Given the description of an element on the screen output the (x, y) to click on. 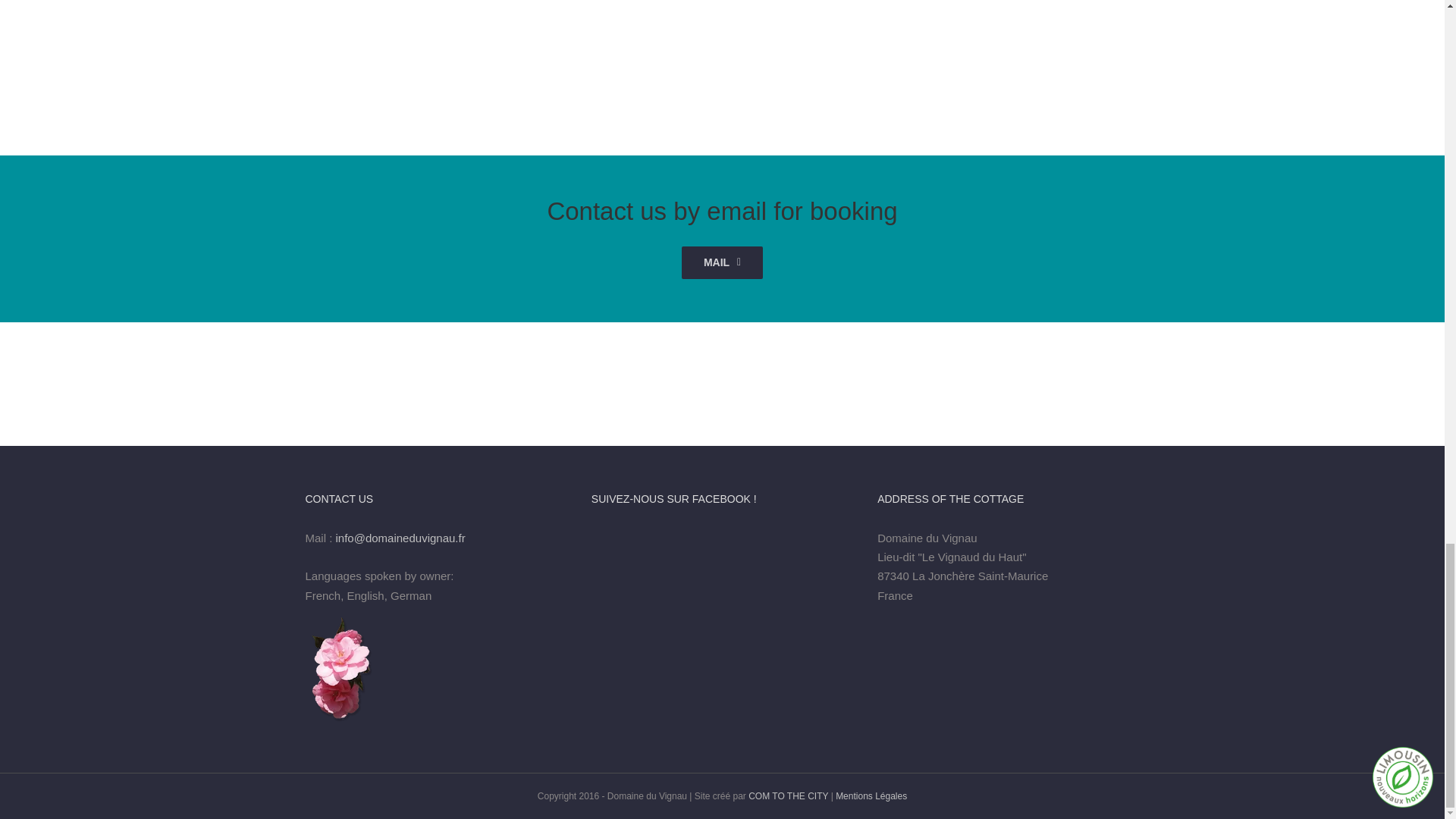
Image111 (722, 43)
MAIL (721, 262)
erwan fiquet (1207, 43)
